Given the description of an element on the screen output the (x, y) to click on. 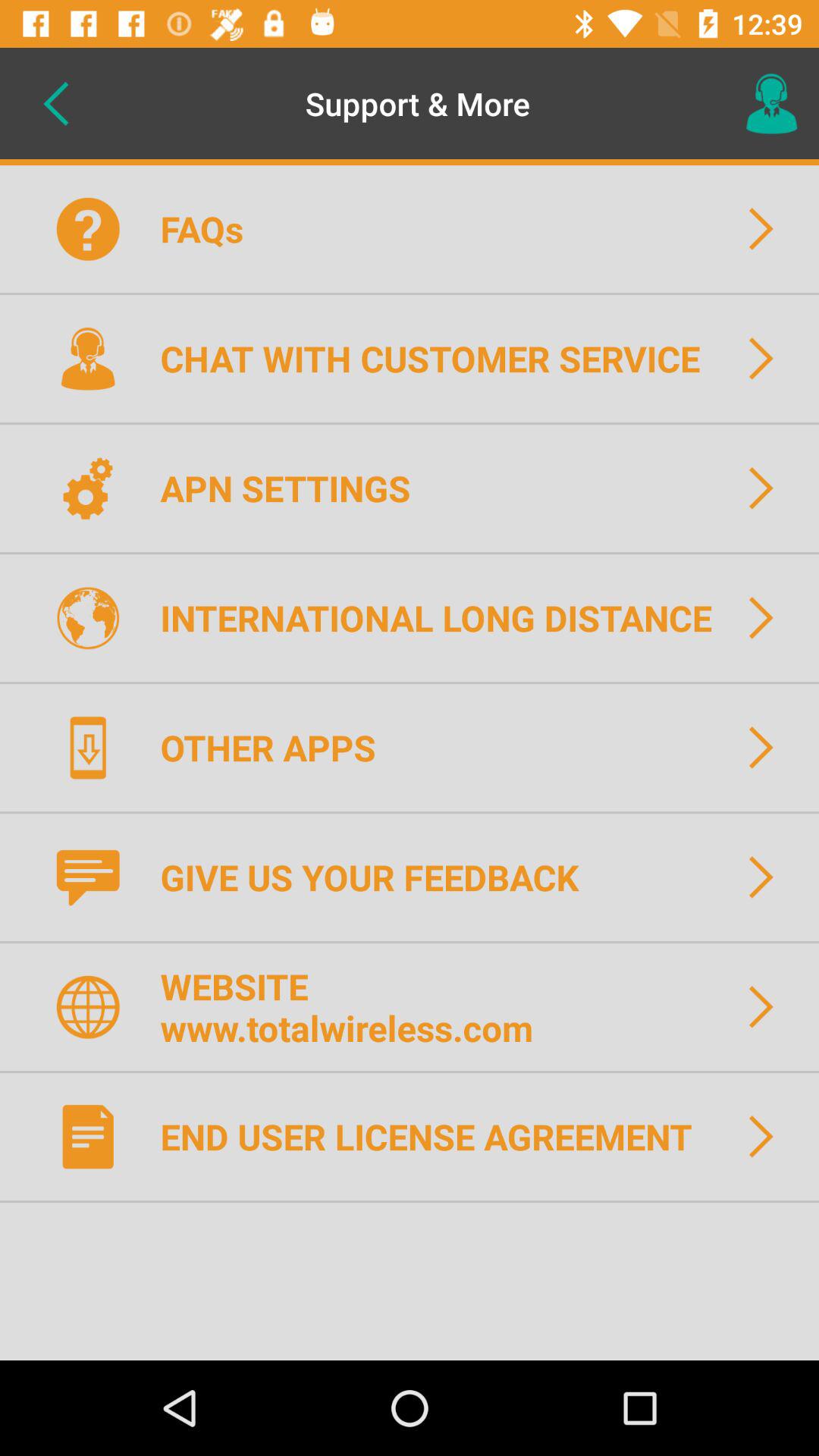
open icon next to the support & more (55, 103)
